Given the description of an element on the screen output the (x, y) to click on. 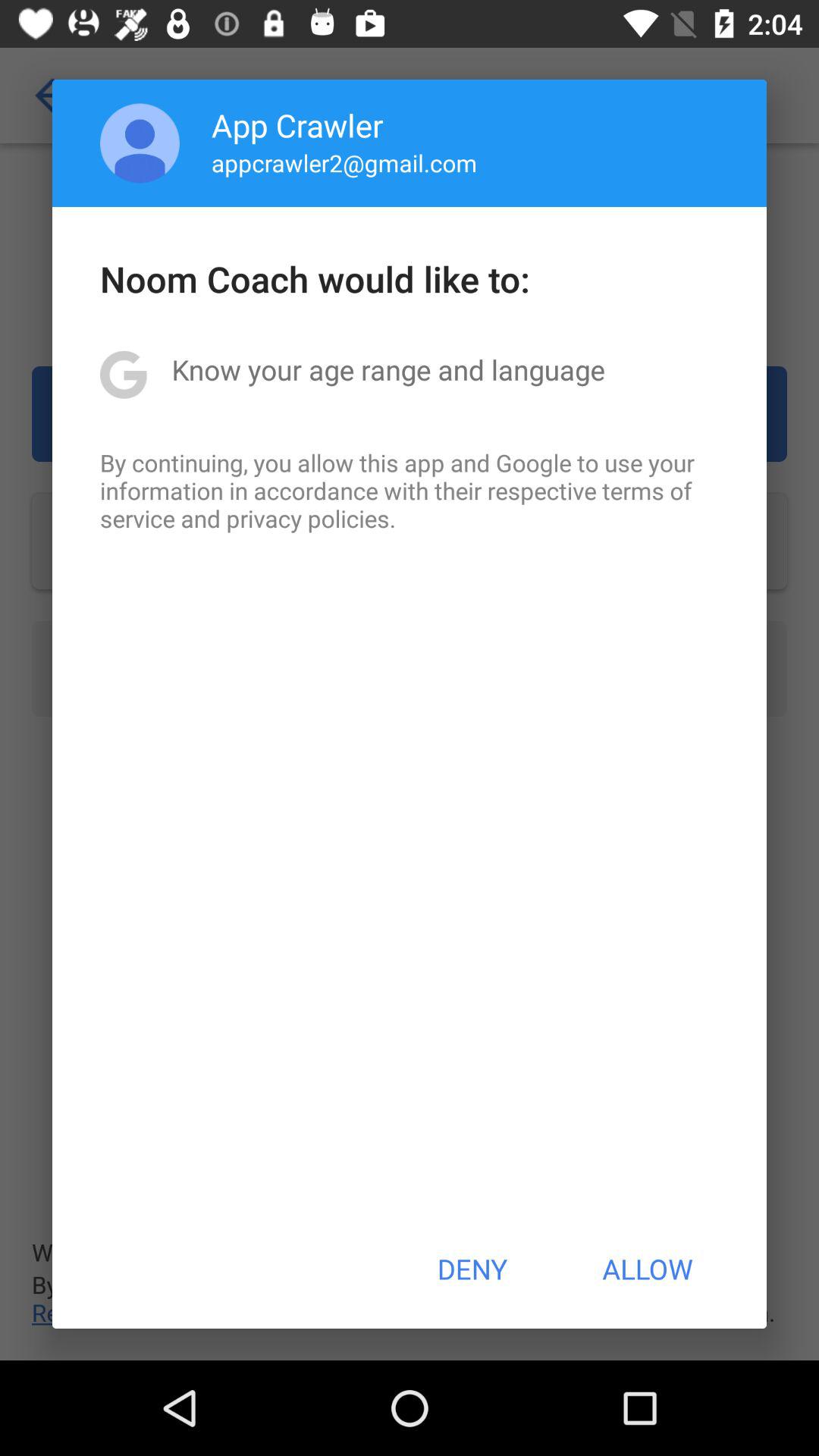
press appcrawler2@gmail.com app (344, 162)
